Given the description of an element on the screen output the (x, y) to click on. 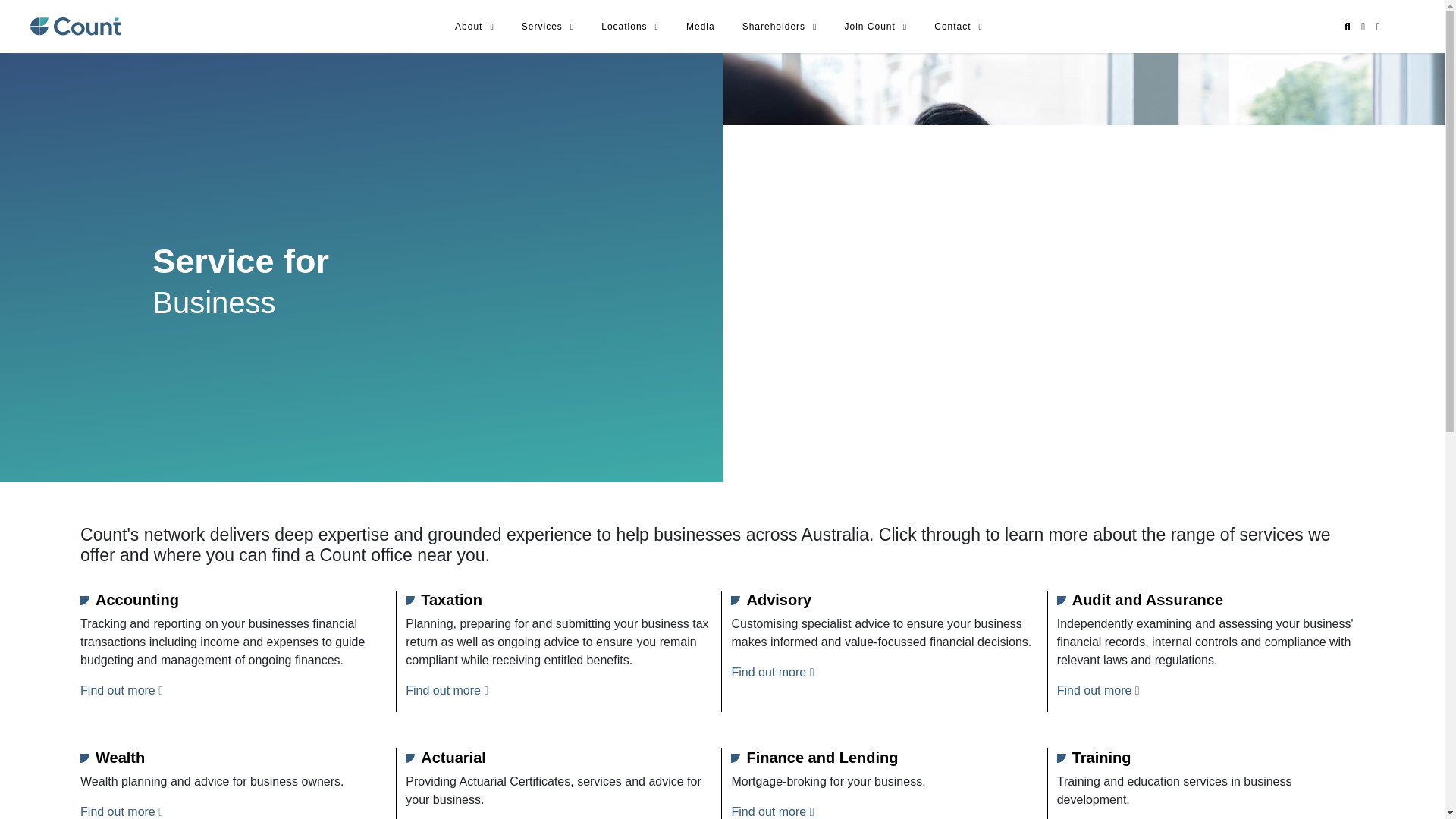
About (474, 26)
Locations (630, 26)
Shareholders (780, 26)
Media (699, 26)
Contact (958, 26)
Join Count (875, 26)
Services (547, 26)
